Given the description of an element on the screen output the (x, y) to click on. 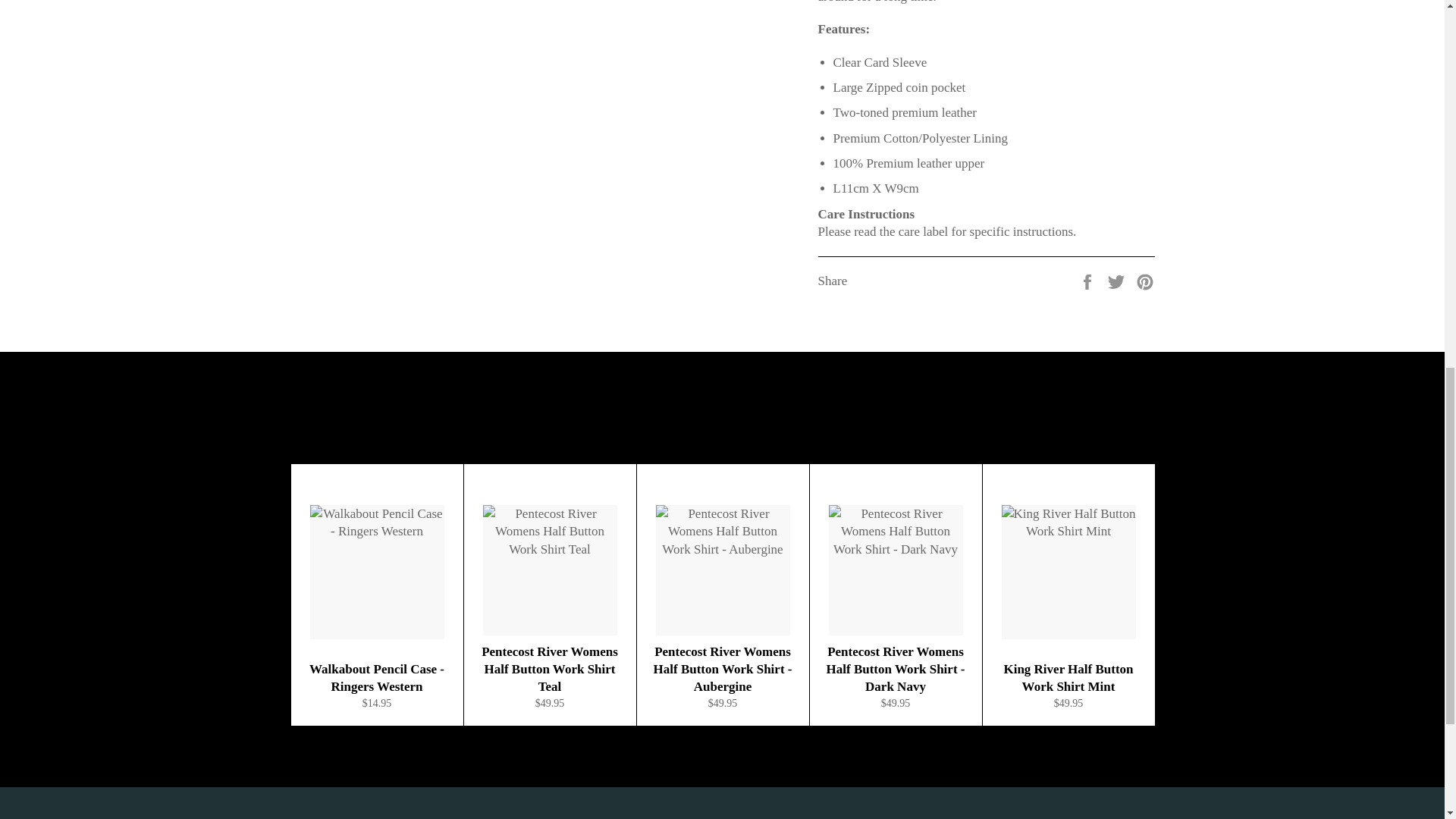
Share on Facebook (1088, 279)
Tweet on Twitter (1117, 279)
Pin on Pinterest (1144, 279)
